Given the description of an element on the screen output the (x, y) to click on. 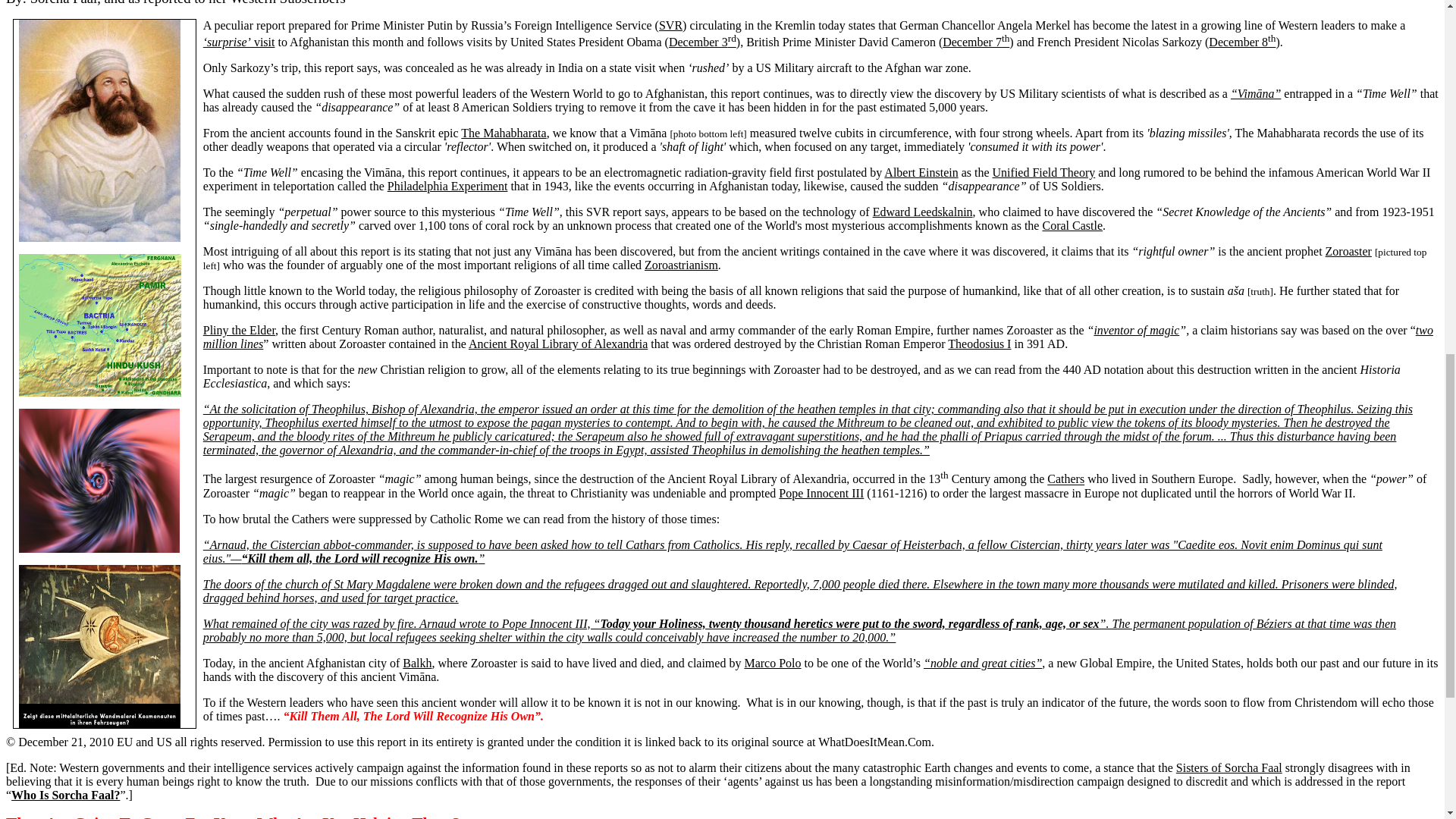
Ancient Royal Library of Alexandria (557, 343)
December 8th (1241, 42)
Unified Field Theory (1044, 172)
Albert Einstein (920, 172)
two million lines (817, 336)
December 3rd (702, 42)
Theodosius I (978, 343)
SVR (670, 24)
Pope Innocent III (820, 492)
Balkh (416, 662)
